Given the description of an element on the screen output the (x, y) to click on. 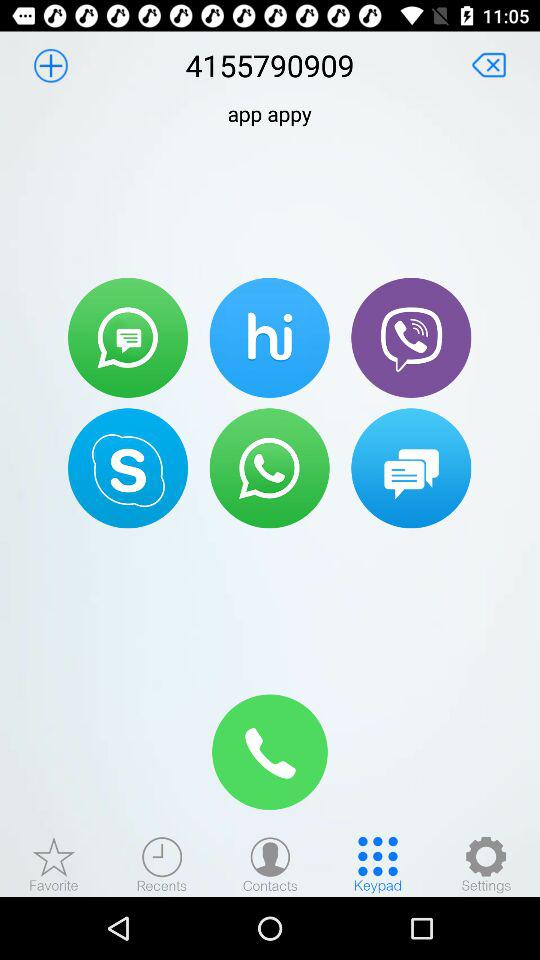
make phone call (270, 751)
